Given the description of an element on the screen output the (x, y) to click on. 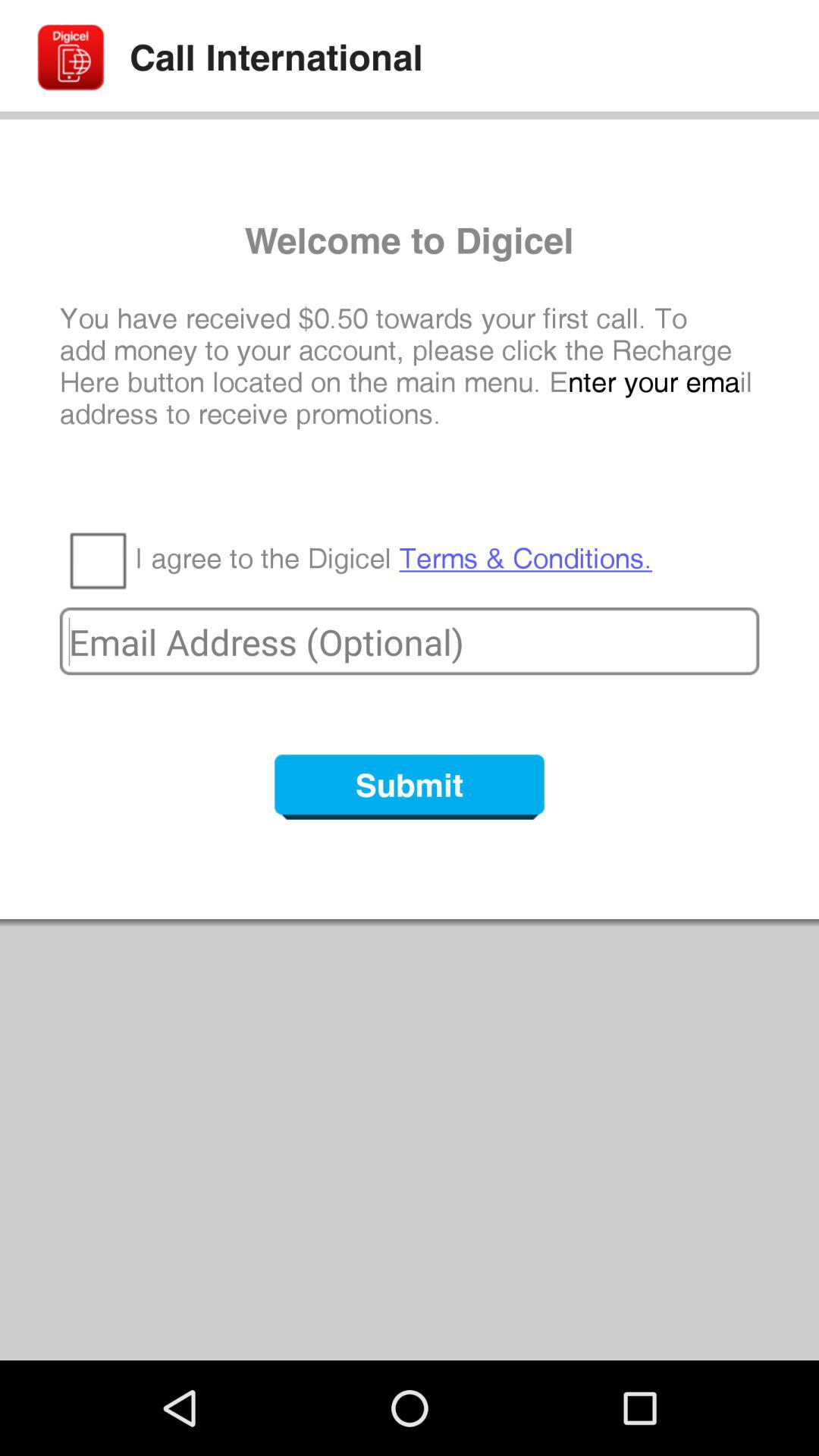
open the i agree to icon (393, 559)
